Given the description of an element on the screen output the (x, y) to click on. 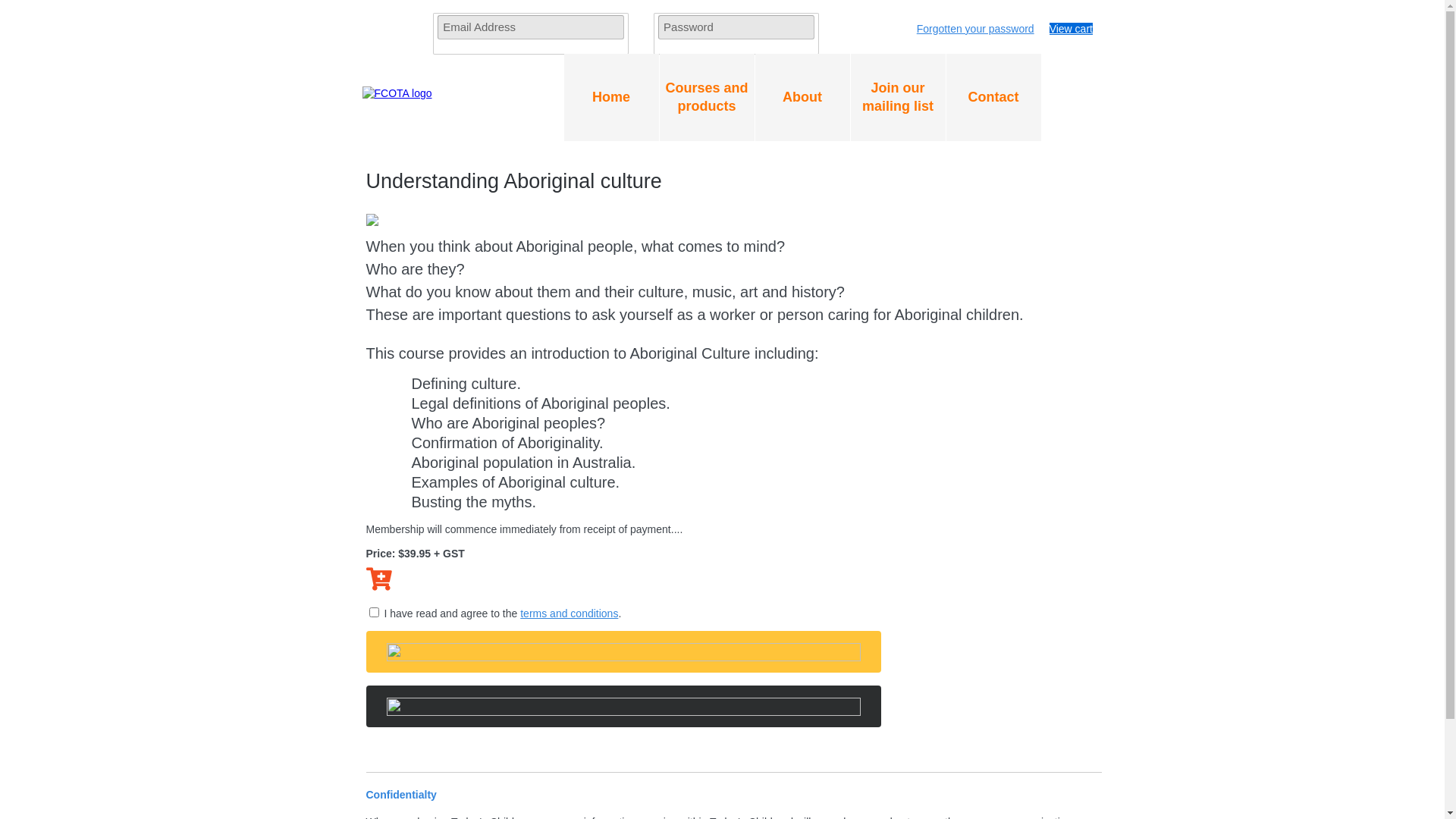
Contact Element type: text (993, 97)
terms and conditions Element type: text (569, 613)
About Element type: text (802, 97)
PayPal Element type: hover (622, 694)
Join our mailing list Element type: text (897, 97)
View cart Element type: text (1070, 28)
Add to cart Element type: hover (378, 578)
Forgot your username? Element type: hover (614, 28)
Home Element type: text (611, 97)
Courses and products Element type: text (706, 97)
Forgotten your password Element type: text (969, 34)
